Given the description of an element on the screen output the (x, y) to click on. 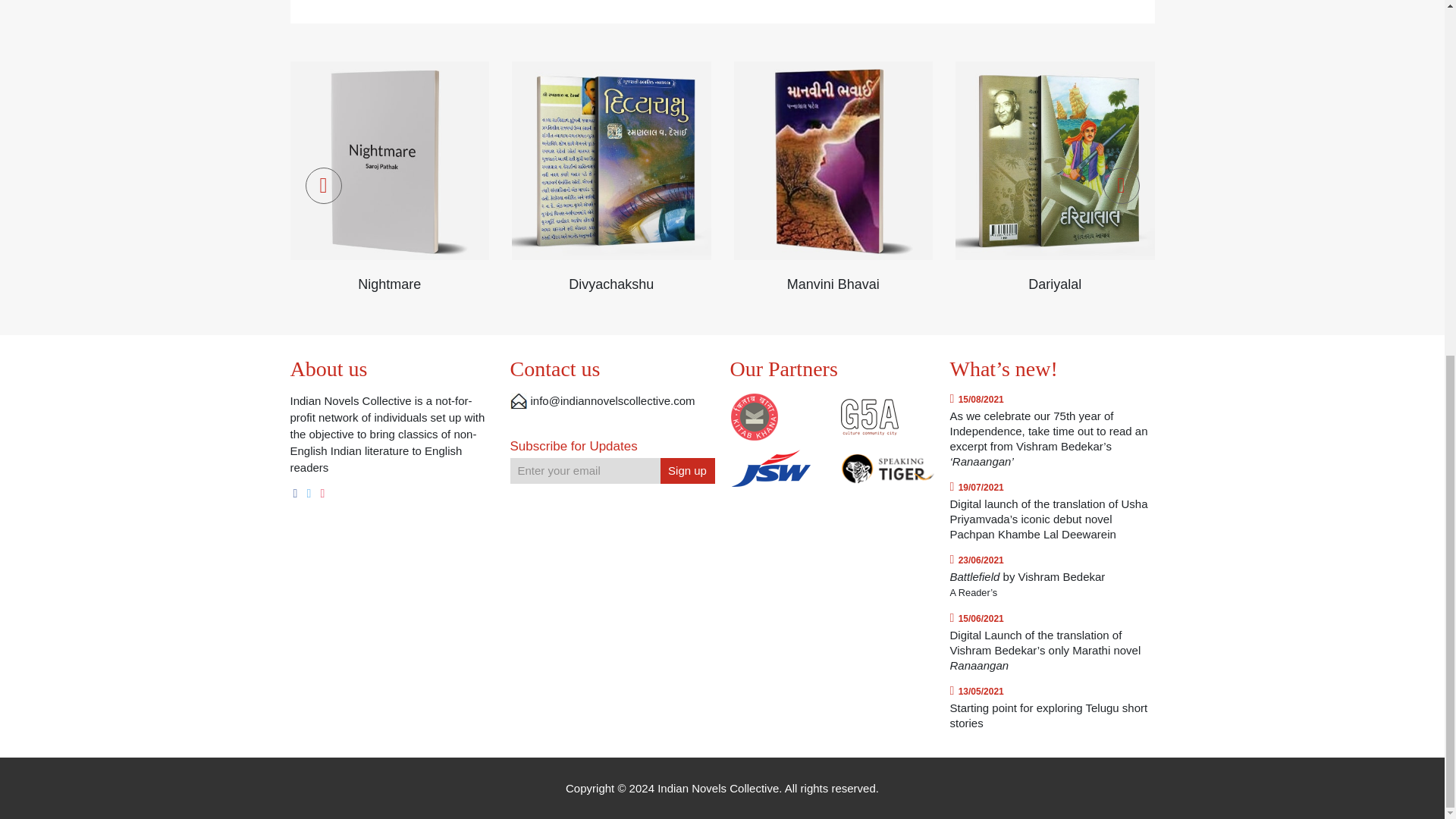
Sign up (686, 470)
